Given the description of an element on the screen output the (x, y) to click on. 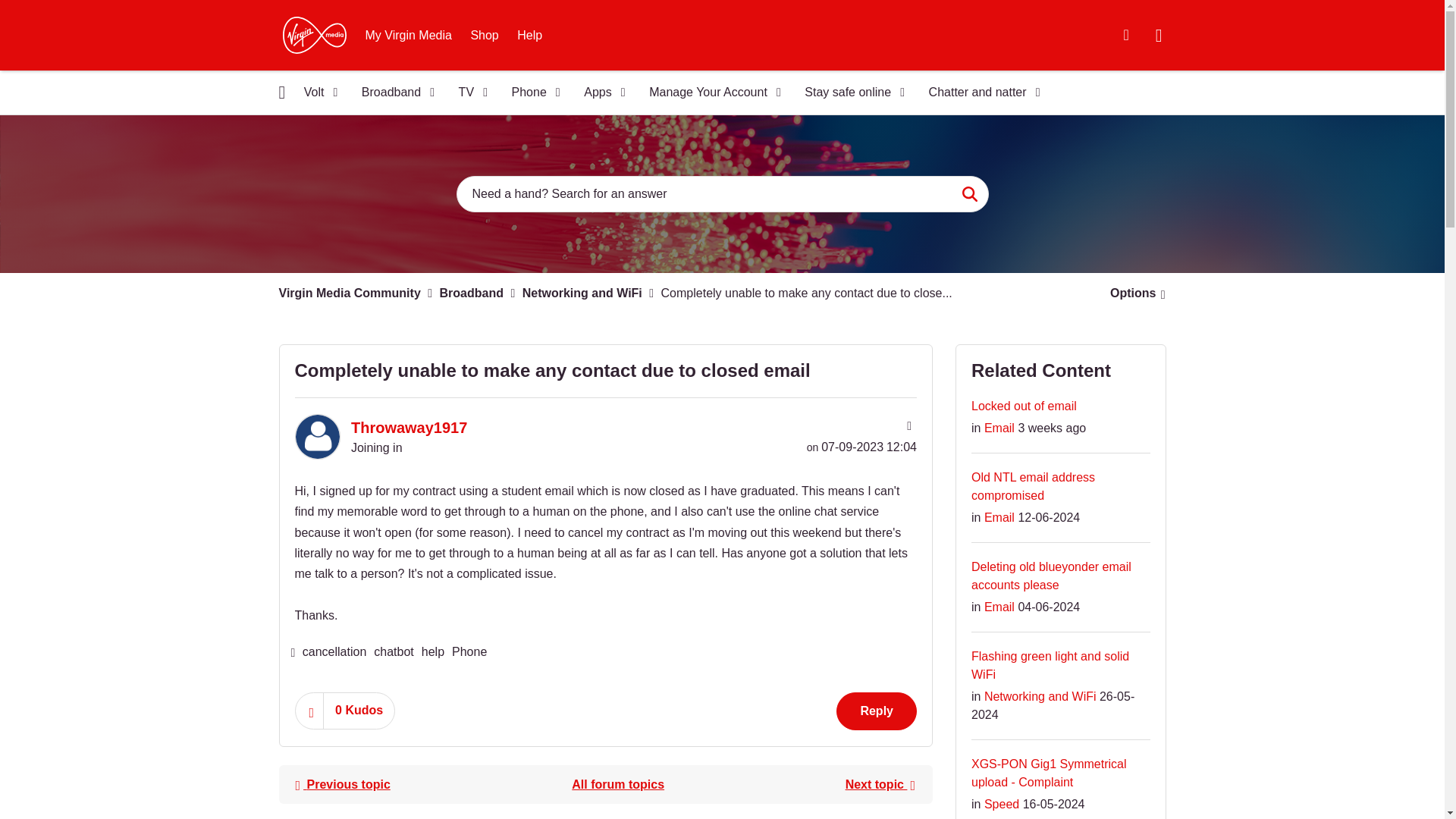
Volt (315, 92)
Phone (531, 92)
Search (969, 193)
My Virgin Media (409, 34)
Show option menu (1133, 293)
Broadband dropping out (879, 784)
TV (468, 92)
Networking and WiFi (618, 784)
Apps (599, 92)
The total number of kudos this post has received. (358, 710)
Stay safe online (849, 92)
Virgin Media (314, 35)
Search (722, 194)
Manage Your Account (709, 92)
Search (969, 193)
